Given the description of an element on the screen output the (x, y) to click on. 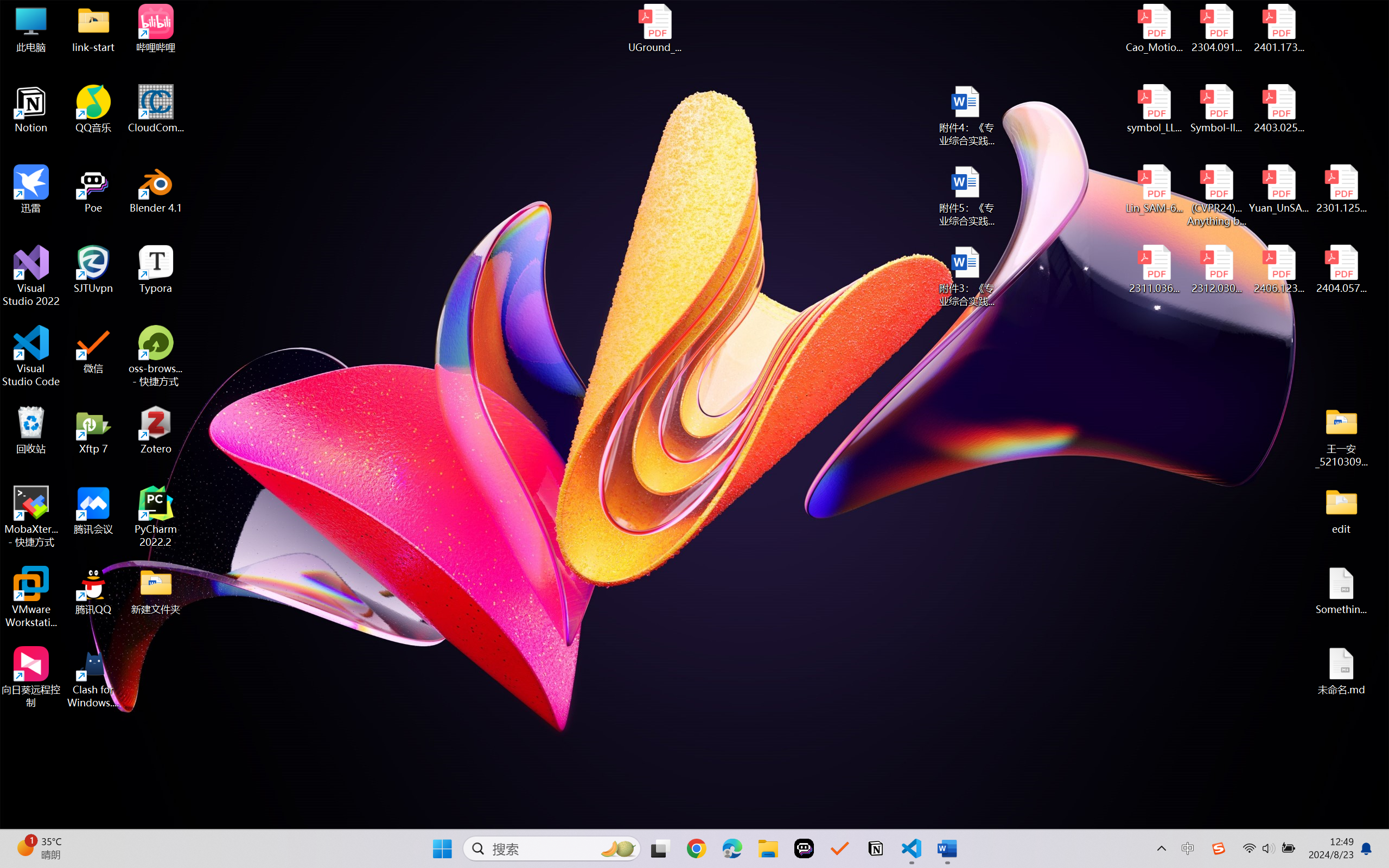
symbol_LLM.pdf (1154, 109)
CloudCompare (156, 109)
Visual Studio 2022 (31, 276)
UGround_paper.pdf (654, 28)
Symbol-llm-v2.pdf (1216, 109)
Blender 4.1 (156, 189)
